Given the description of an element on the screen output the (x, y) to click on. 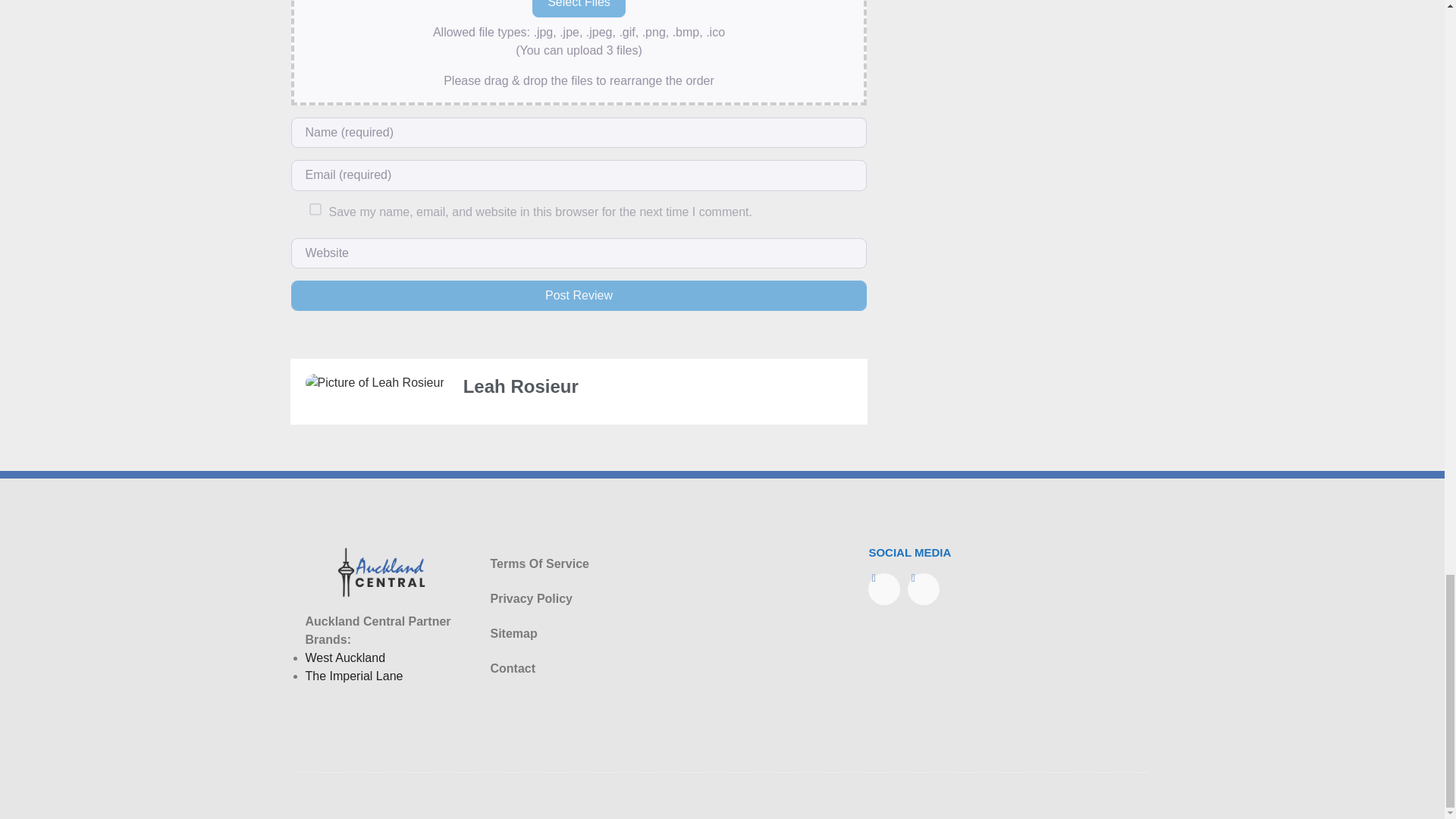
yes (314, 209)
Post Review (579, 295)
Select Files (579, 8)
